Given the description of an element on the screen output the (x, y) to click on. 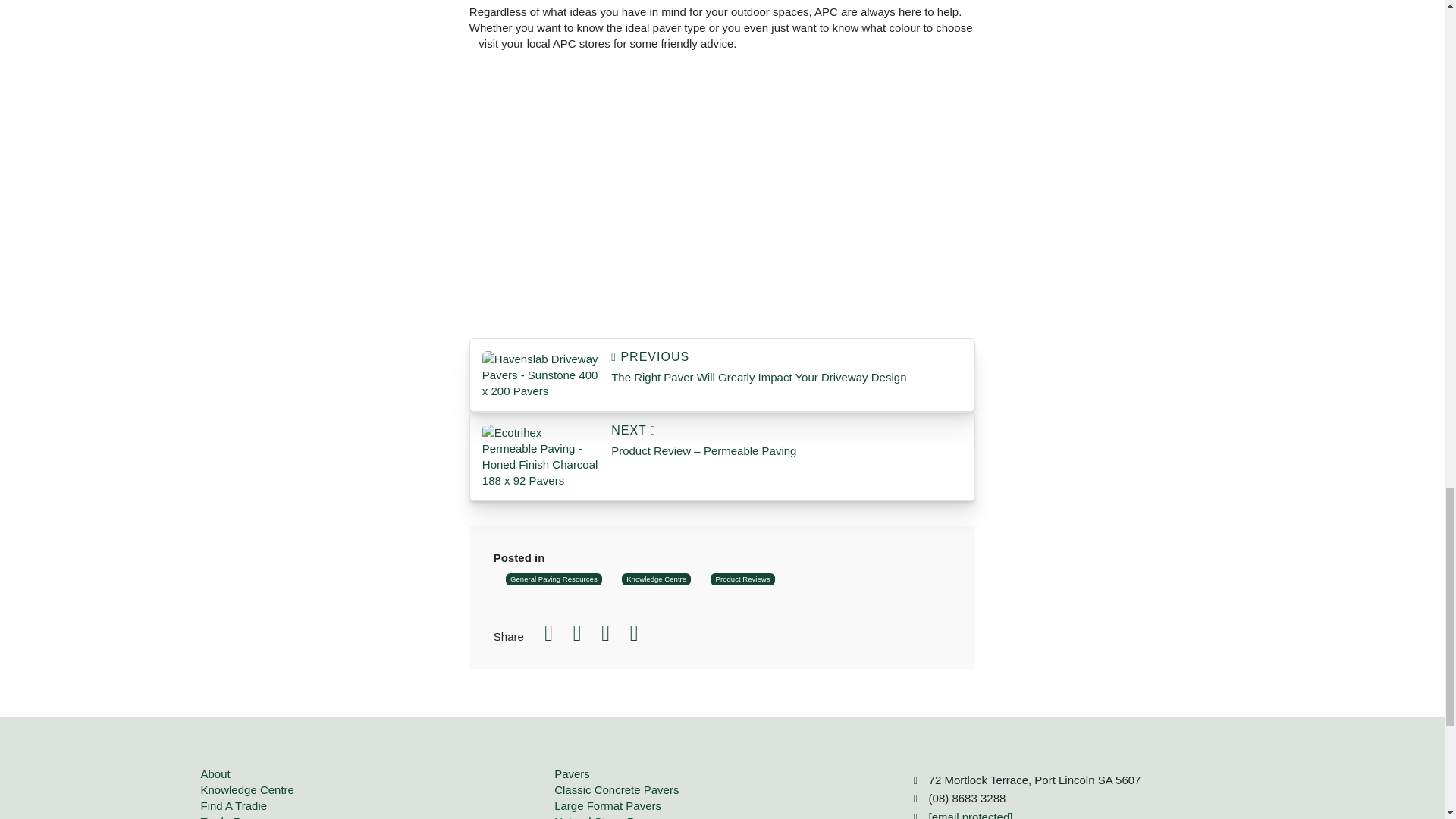
The Right Paver Will Greatly Impact Your Driveway Design (786, 367)
The Right Paver Will Greatly Impact Your Driveway Design (539, 373)
